Given the description of an element on the screen output the (x, y) to click on. 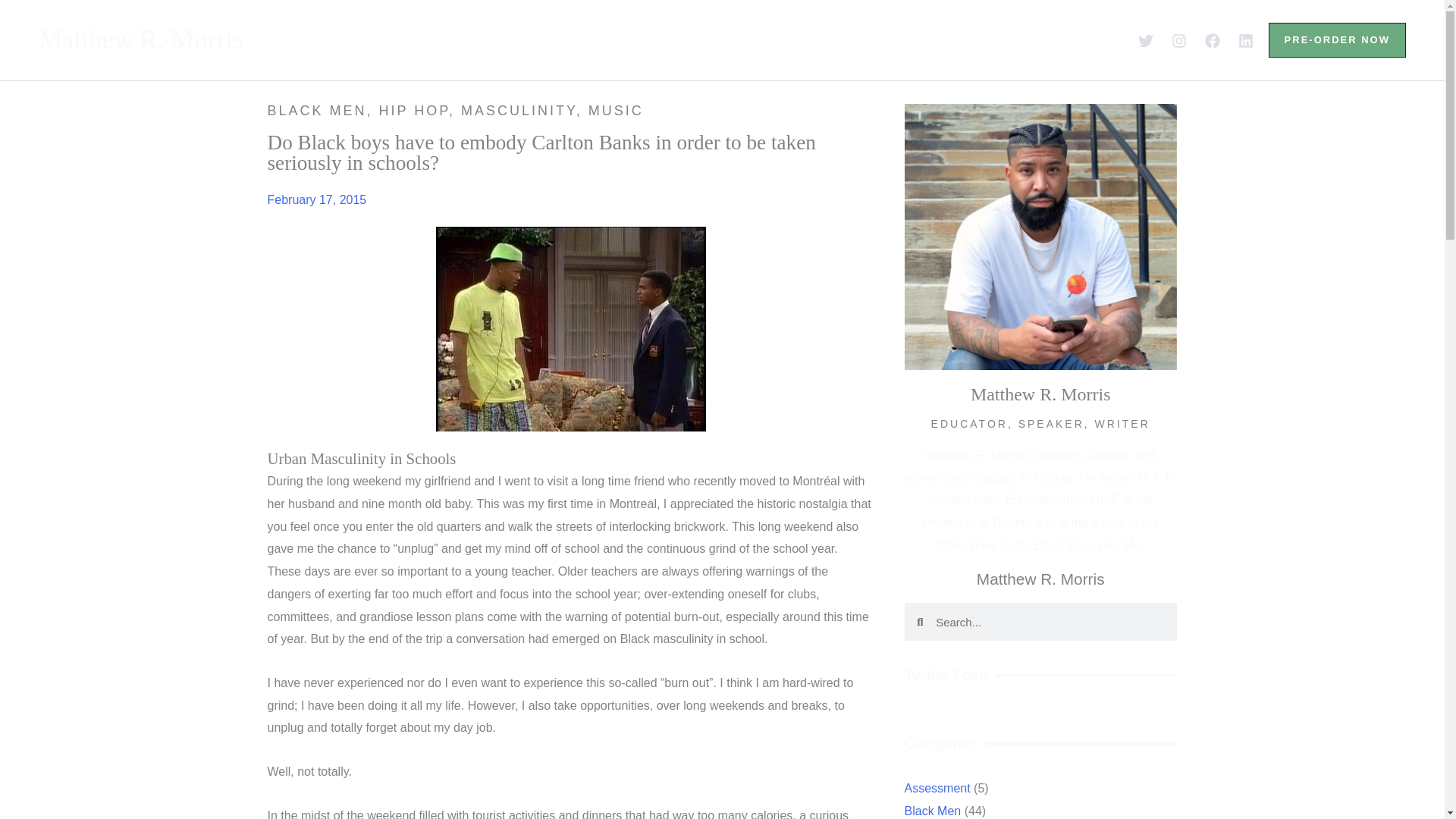
Black Men (942, 810)
PRE-ORDER NOW (1337, 39)
BLOG (775, 39)
CONTACT (953, 39)
Matthew R. Morris (141, 39)
ABOUT (481, 39)
Assessment (949, 788)
BLACK BOYS LIKE ME (631, 39)
PRESS (856, 39)
